Given the description of an element on the screen output the (x, y) to click on. 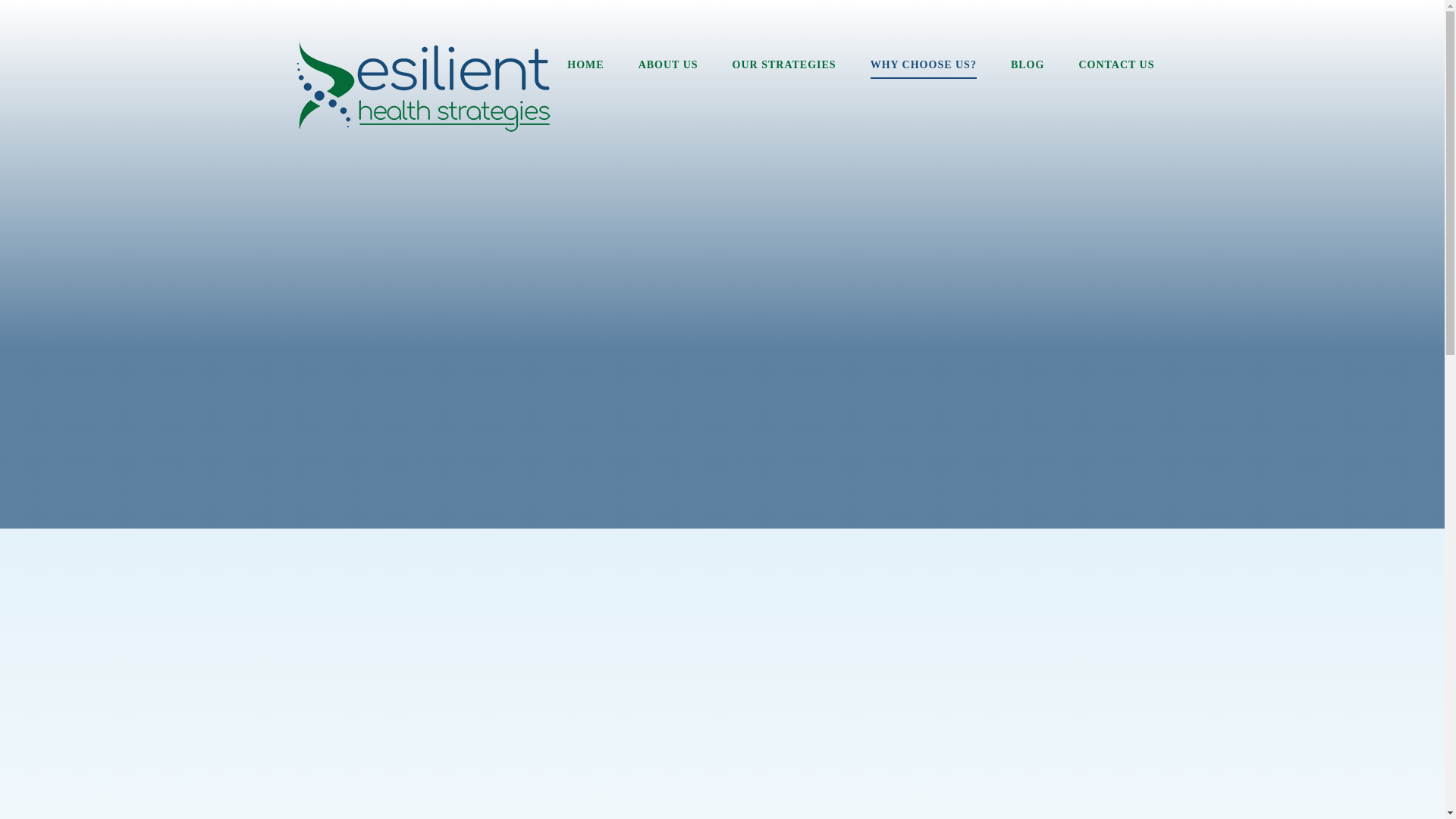
CONTACT US (1116, 64)
OUR STRATEGIES (783, 64)
WHY CHOOSE US? (923, 64)
